Given the description of an element on the screen output the (x, y) to click on. 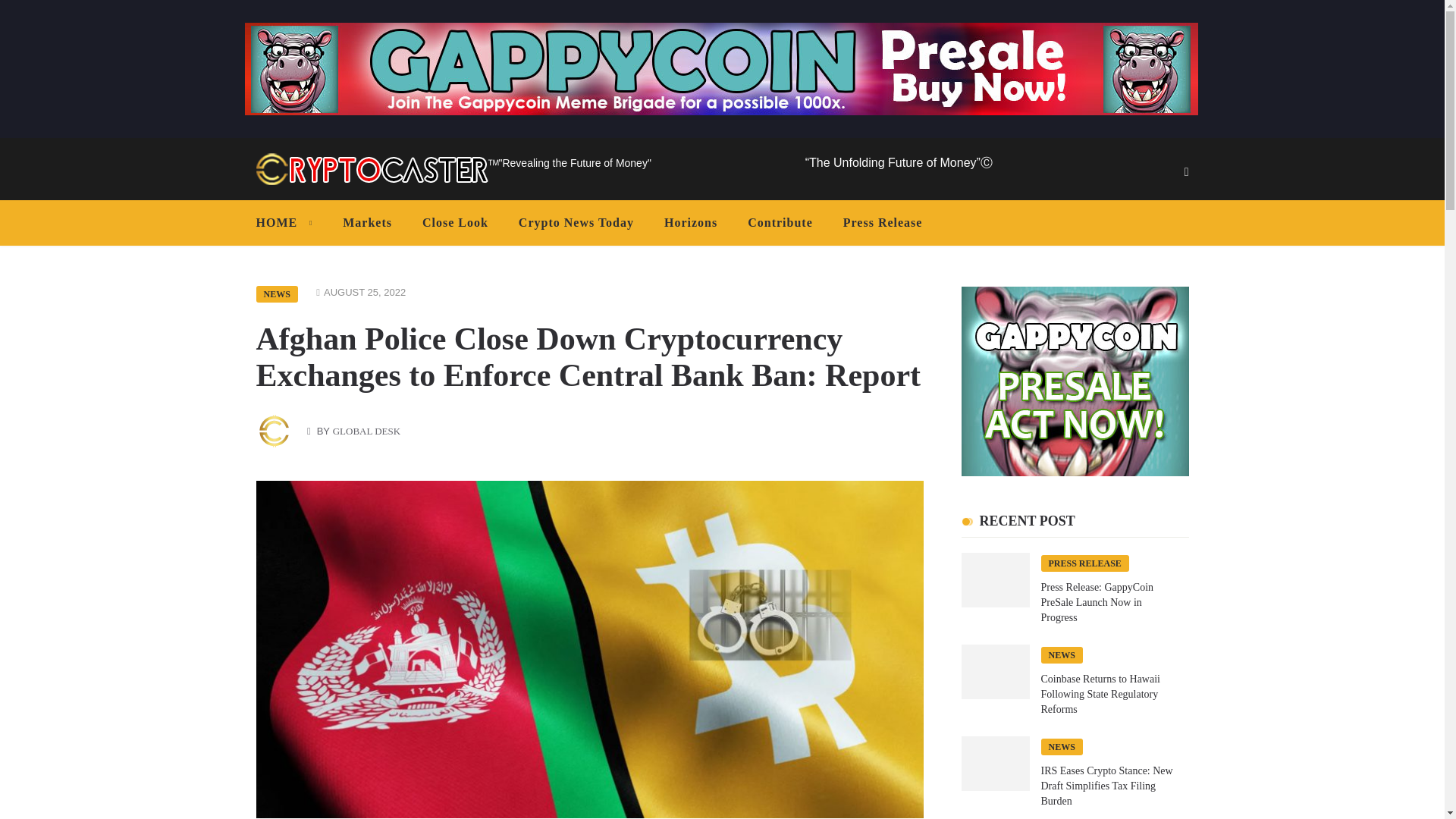
GLOBAL DESK (366, 430)
NEWS (277, 293)
Horizons (690, 222)
Close Look (455, 222)
Press Release (882, 222)
AUGUST 25, 2022 (364, 292)
Crypto News Today (576, 222)
Markets (367, 222)
HOME (288, 222)
Contribute (780, 222)
